Given the description of an element on the screen output the (x, y) to click on. 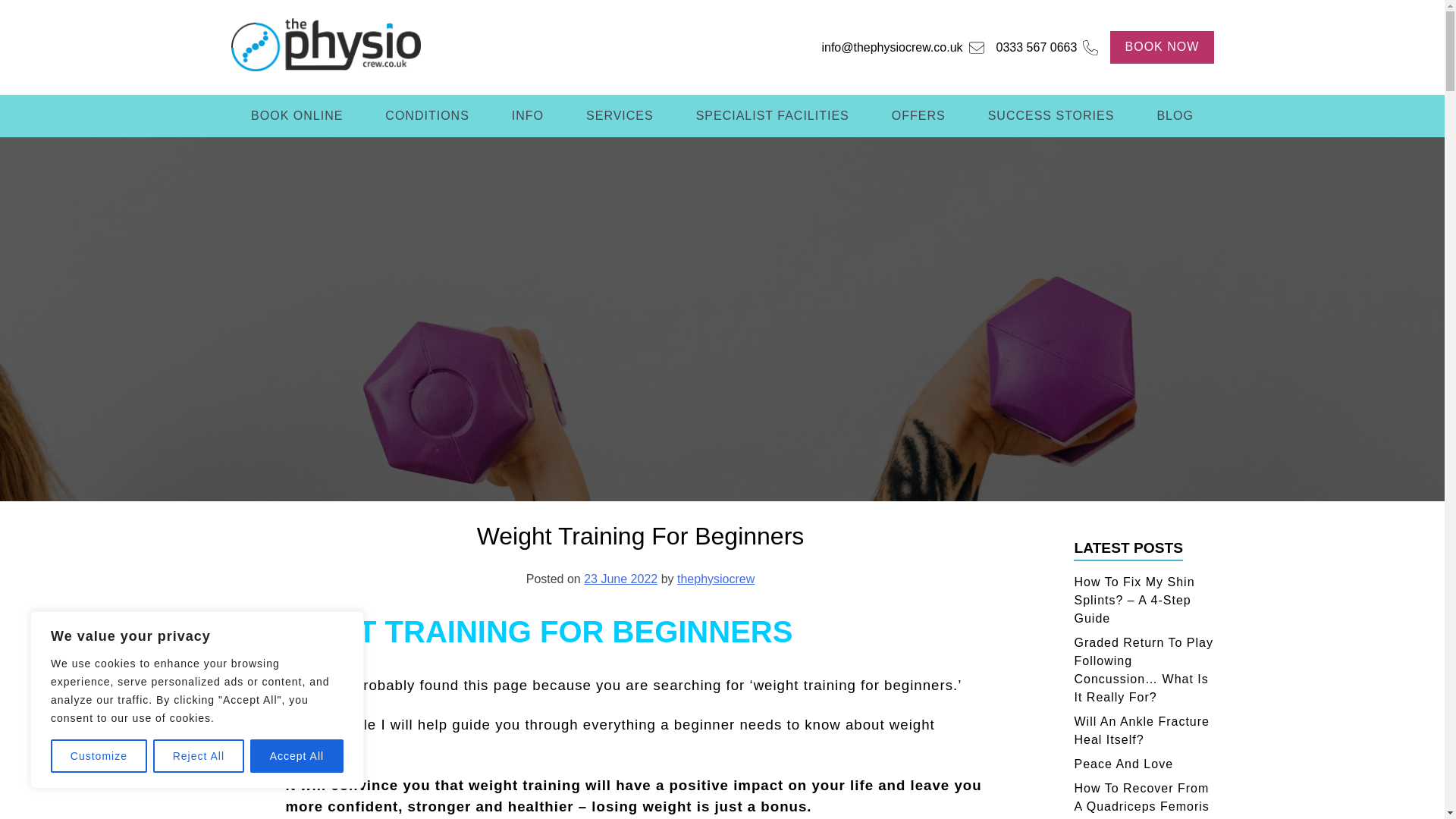
BOOK NOW (1162, 46)
INFO (527, 116)
SERVICES (619, 116)
BOOK ONLINE (297, 116)
BOOK NOW (1160, 47)
Customize (98, 756)
0333 567 0663 (1041, 47)
Accept All (296, 756)
Reject All (198, 756)
CONDITIONS (426, 116)
